Given the description of an element on the screen output the (x, y) to click on. 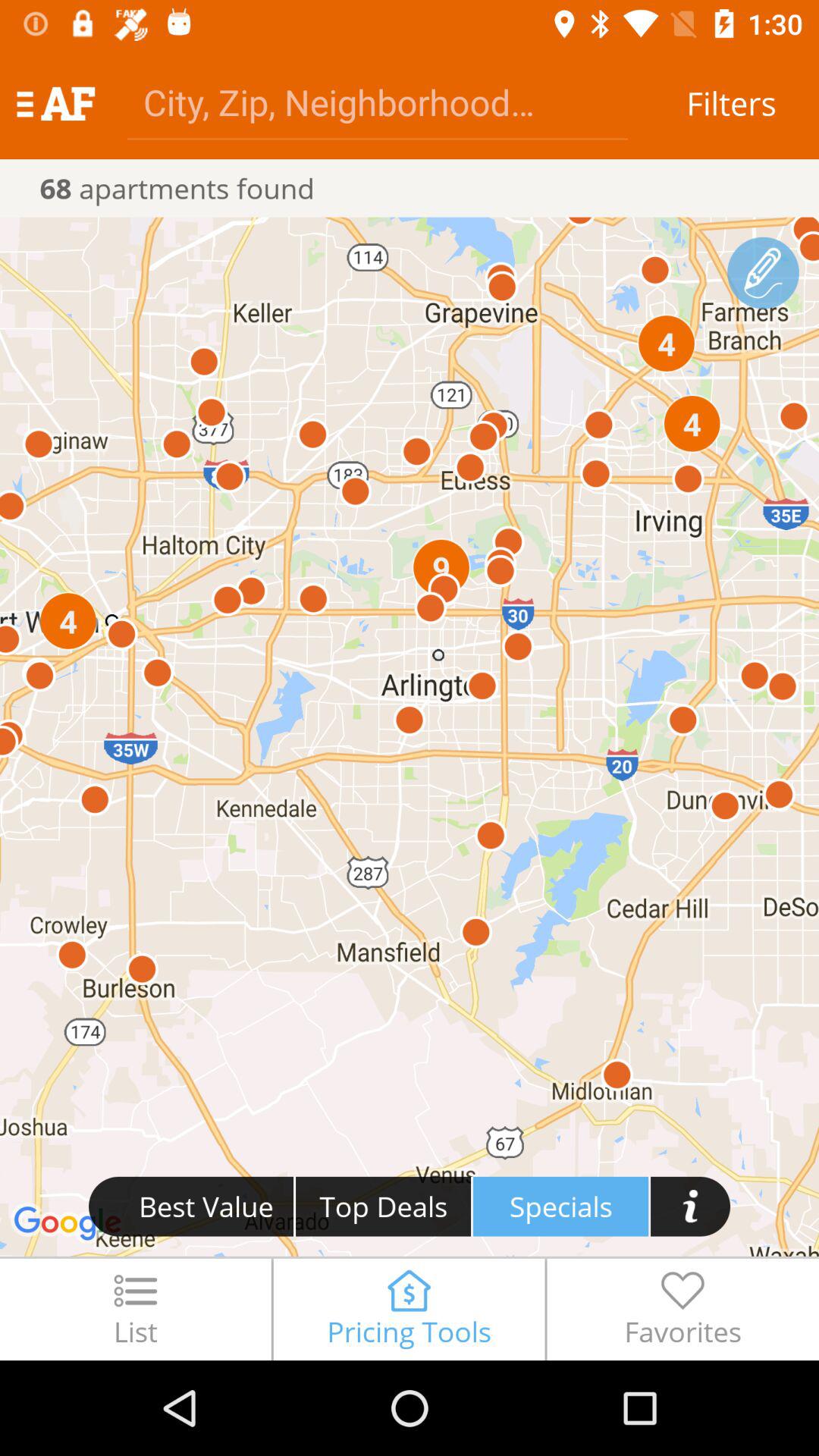
open the item next to the filters (377, 102)
